Given the description of an element on the screen output the (x, y) to click on. 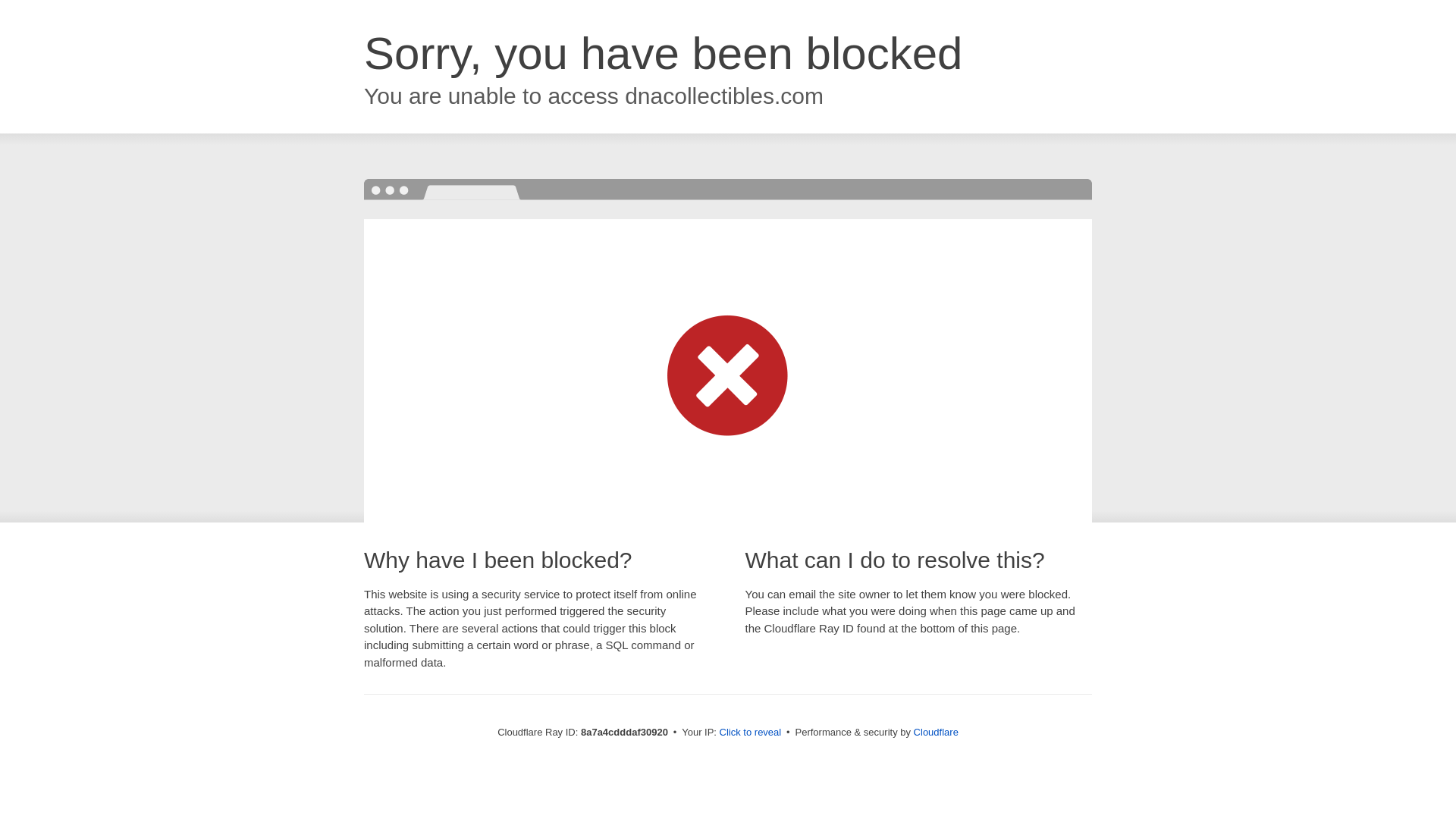
Click to reveal (750, 732)
Cloudflare (936, 731)
